Given the description of an element on the screen output the (x, y) to click on. 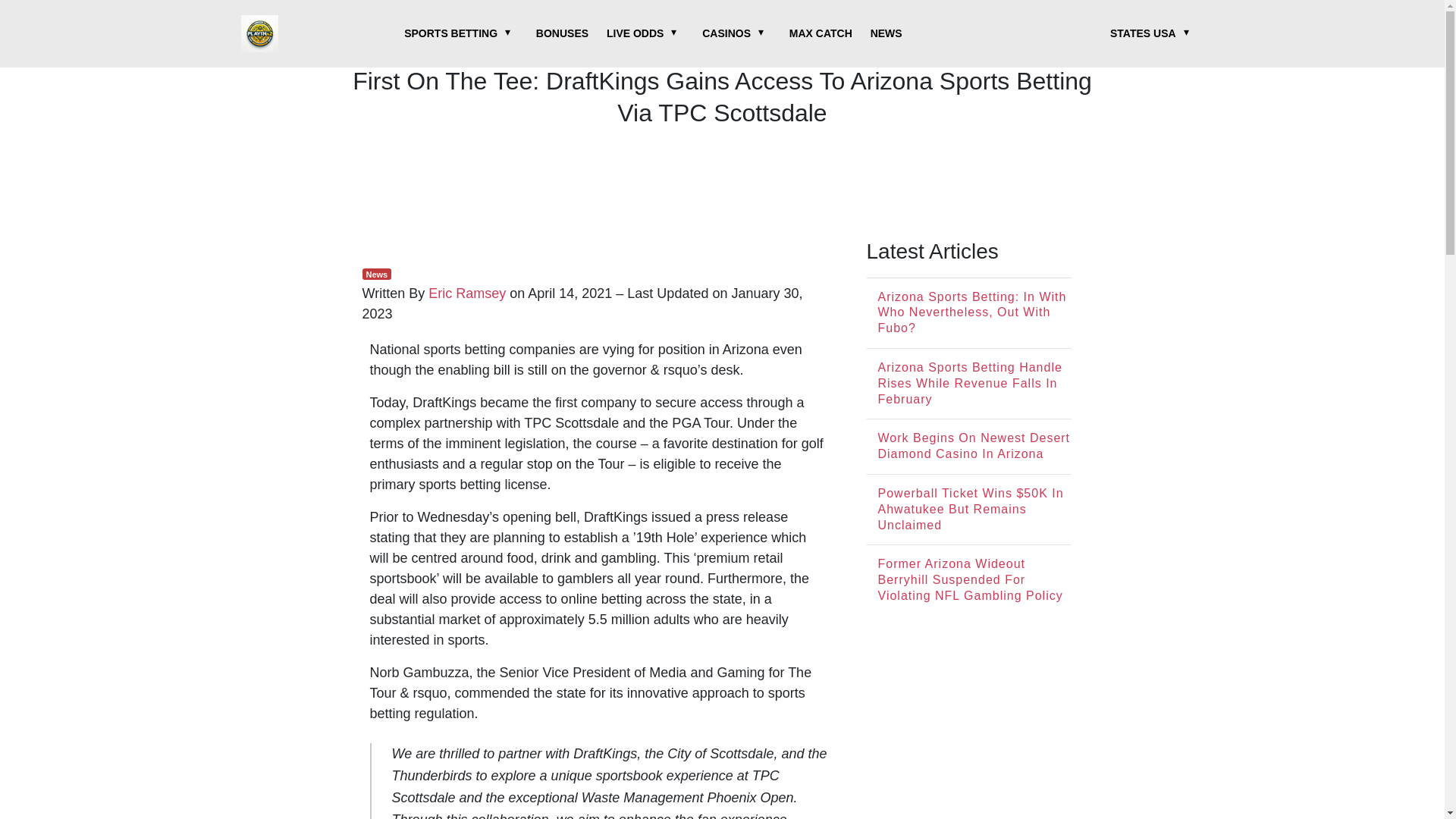
CASINOS (726, 33)
SPORTS BETTING (450, 33)
STATES USA (1142, 33)
NEWS (886, 33)
BONUSES (561, 33)
MAX CATCH (820, 33)
LIVE ODDS (635, 33)
